Given the description of an element on the screen output the (x, y) to click on. 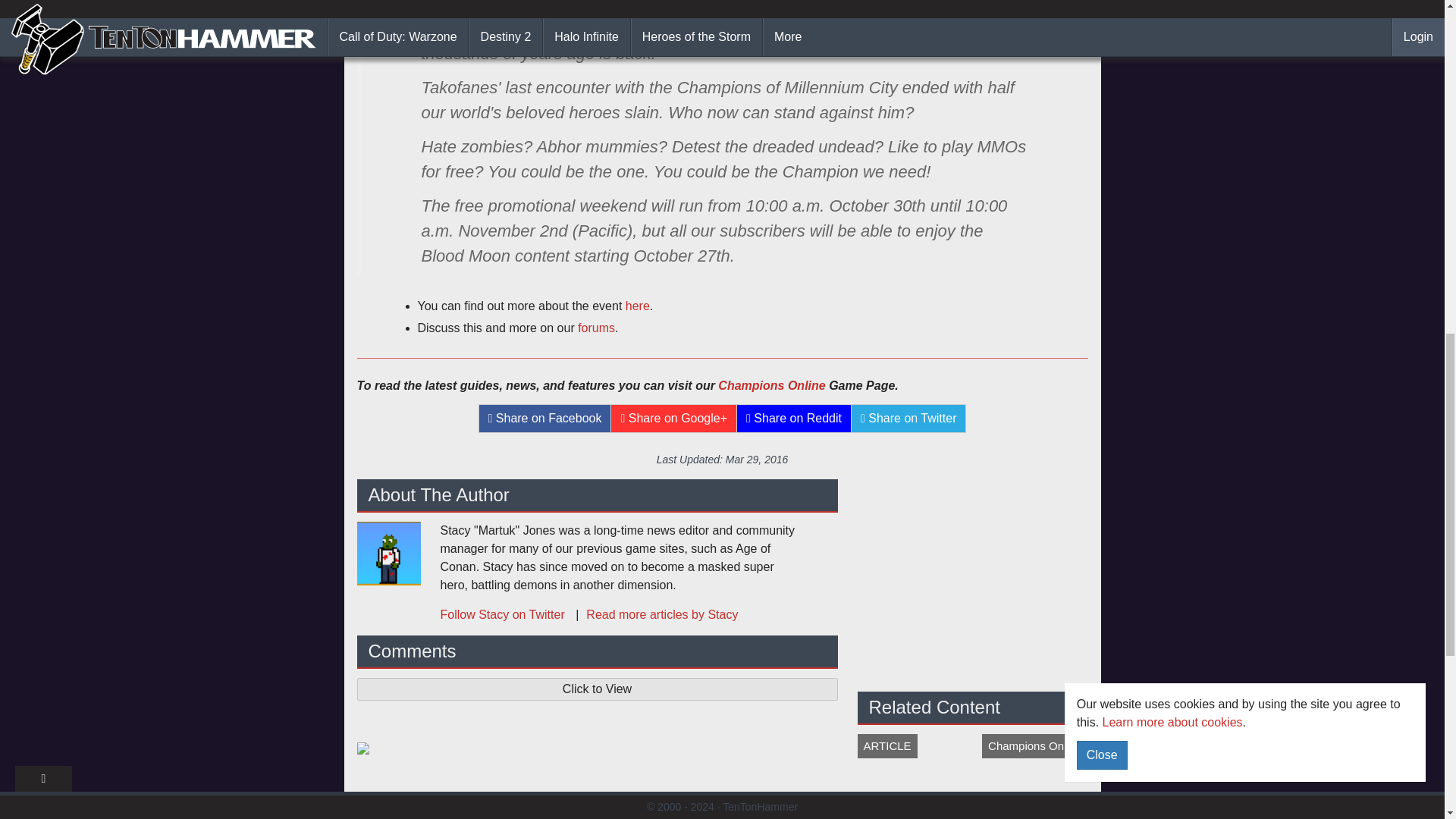
CO Beta Testers Share Favorite Powers (972, 776)
Champions Online (771, 385)
Share on Reddit (793, 418)
forums (596, 327)
Share on Facebook (545, 418)
here (637, 305)
Follow Stacy on Twitter (503, 614)
Read more articles by Stacy (652, 614)
Share on Twitter (908, 418)
Click to View (596, 689)
